Given the description of an element on the screen output the (x, y) to click on. 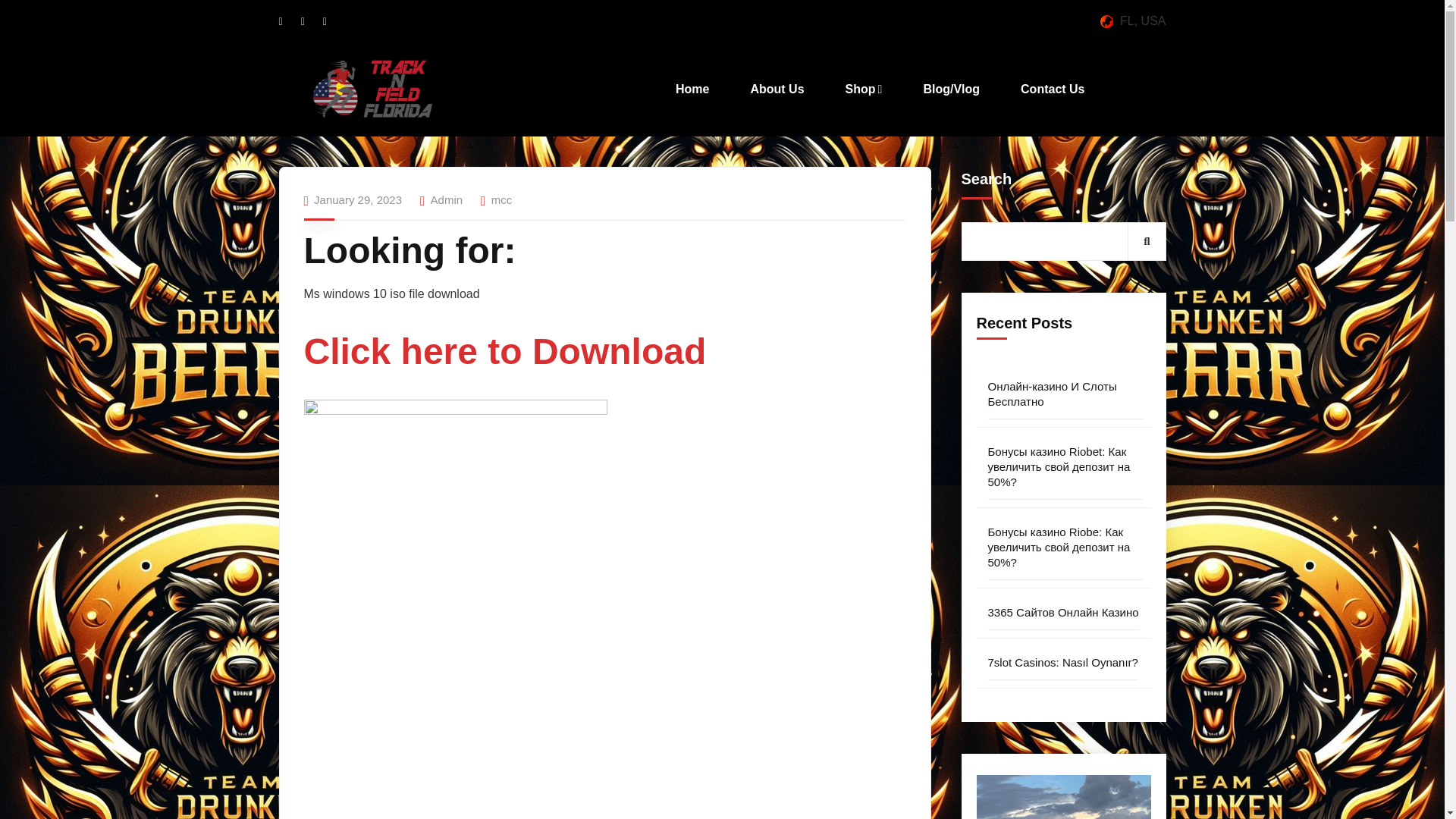
Posts by admin (446, 199)
Click here to Download (504, 359)
Track Lives Matter (371, 88)
Contact Us (1051, 89)
mcc (502, 198)
About Us (776, 89)
Admin (446, 199)
Search (1146, 240)
